Given the description of an element on the screen output the (x, y) to click on. 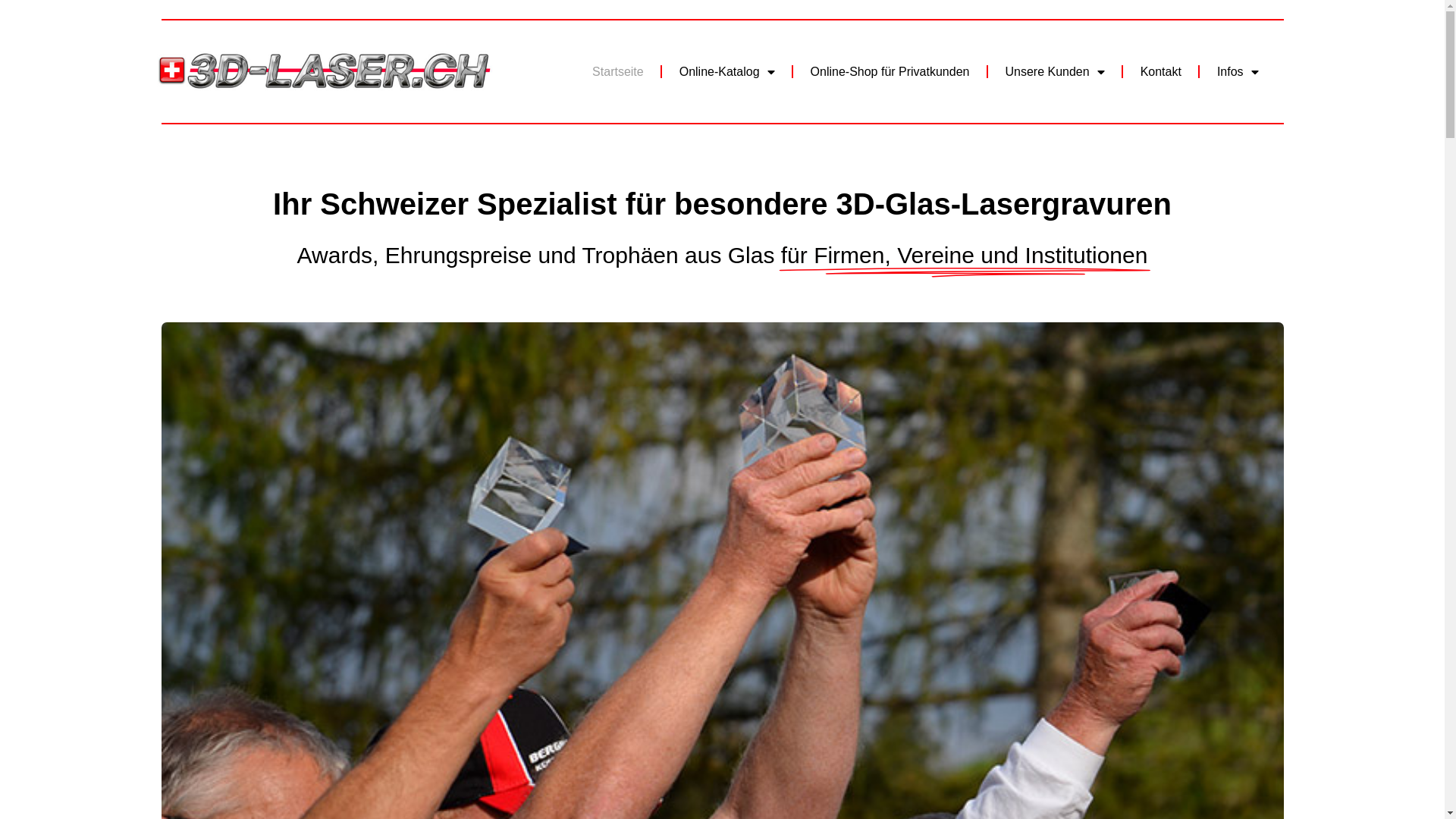
Startseite Element type: text (617, 71)
Online-Katalog Element type: text (727, 71)
Kontakt Element type: text (1160, 71)
Unsere Kunden Element type: text (1054, 71)
Infos Element type: text (1237, 71)
